Given the description of an element on the screen output the (x, y) to click on. 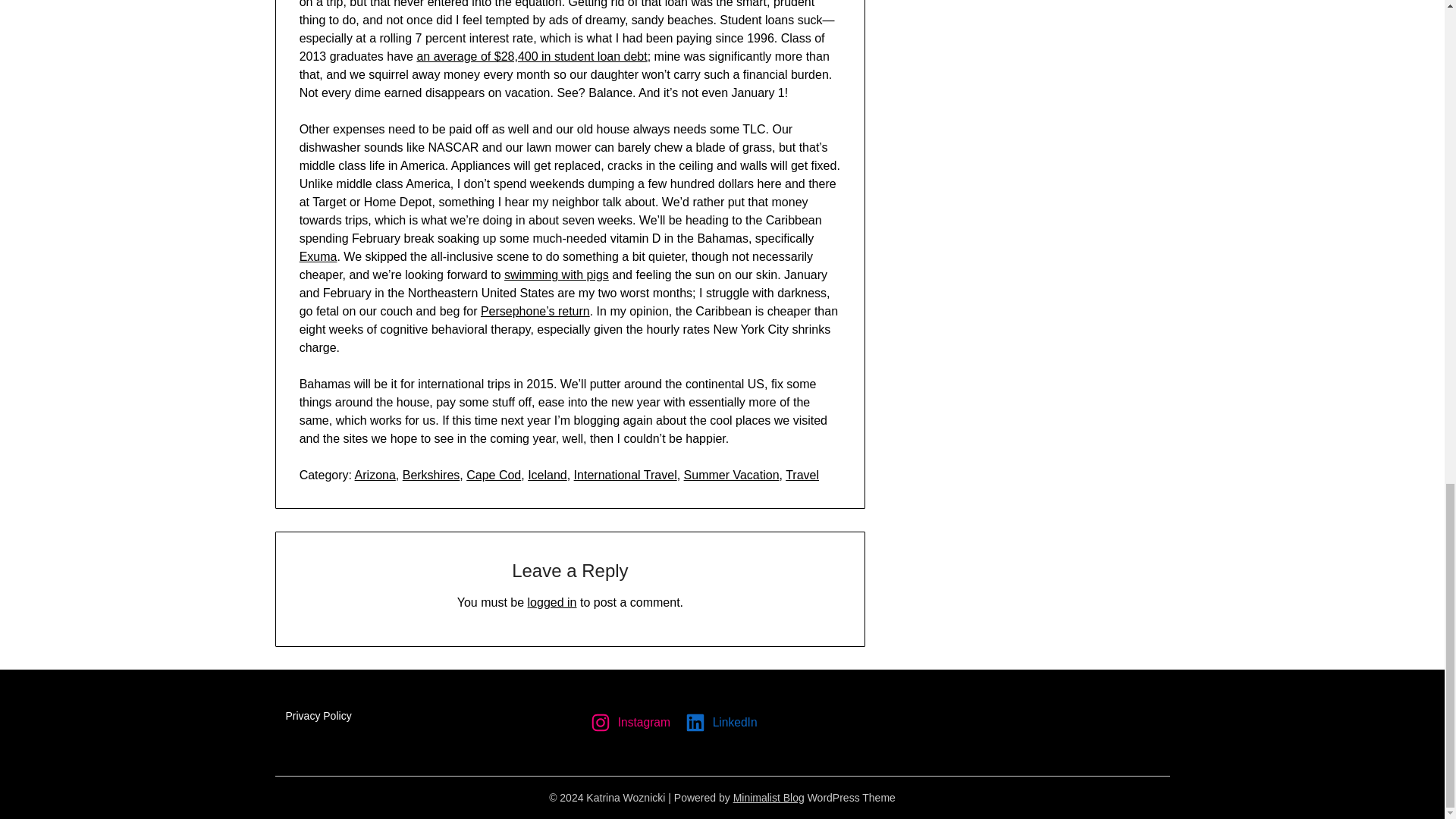
Iceland (547, 474)
Arizona (375, 474)
International Travel (625, 474)
Instagram (633, 722)
swimming with pigs (555, 274)
Cape Cod (493, 474)
Travel (802, 474)
Berkshires (431, 474)
logged in (551, 602)
Summer Vacation (731, 474)
